Given the description of an element on the screen output the (x, y) to click on. 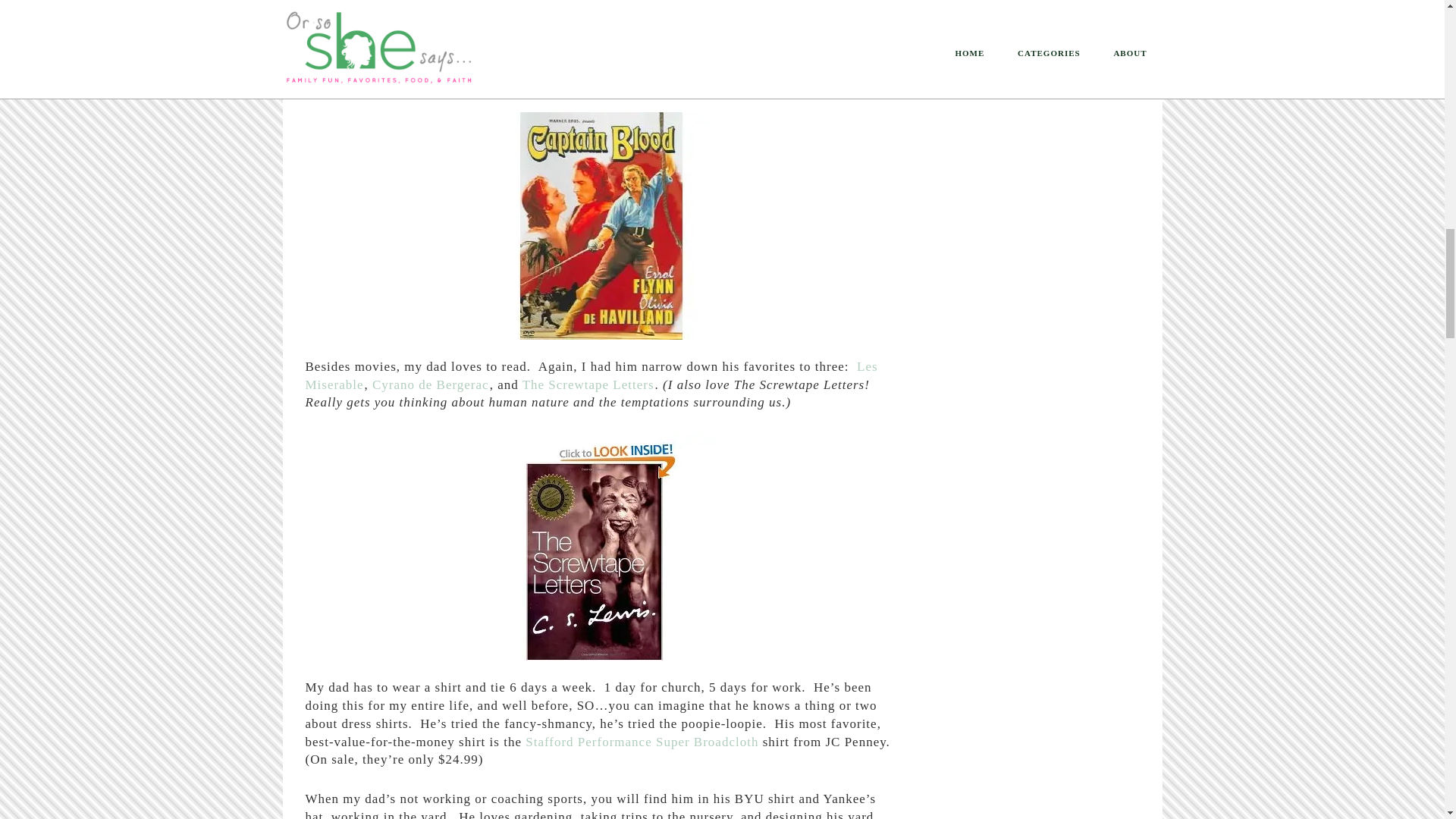
Cyrano de Bergerac (430, 384)
Stafford Performance Super Broadcloth (641, 741)
Les Miserable (590, 375)
The Screwtape Letters (587, 384)
Daniel Boone (783, 63)
Captain Blood (577, 81)
Rear Window (344, 81)
